Given the description of an element on the screen output the (x, y) to click on. 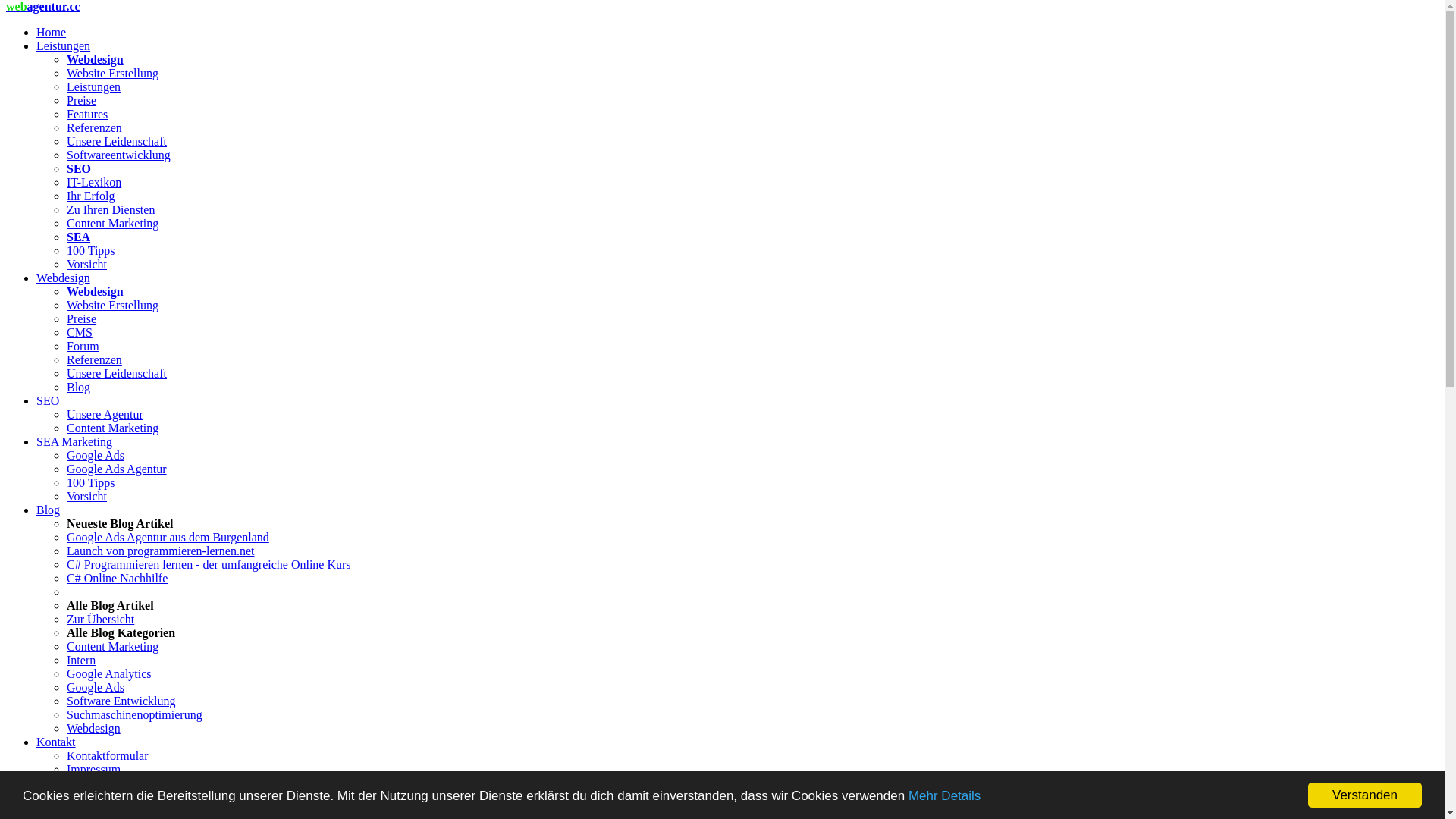
Content Marketing Element type: text (112, 222)
Blog Element type: text (47, 509)
C# Online Nachhilfe Element type: text (116, 577)
Preise Element type: text (81, 318)
Unsere Agentur Element type: text (104, 782)
SEA Marketing Element type: text (74, 441)
IT-Lexikon Element type: text (93, 181)
Unsere Agentur Element type: text (104, 413)
Unsere Leidenschaft Element type: text (116, 373)
Verstanden Element type: text (1364, 794)
100 Tipps Element type: text (90, 482)
Software Entwicklung Element type: text (120, 700)
Webdesign Element type: text (94, 291)
Leistungen Element type: text (63, 45)
Preise Element type: text (81, 100)
Content Marketing Element type: text (112, 646)
Mehr Details Element type: text (944, 795)
Leistungen Element type: text (93, 86)
Ihr Erfolg Element type: text (90, 195)
Launch von programmieren-lernen.net Element type: text (160, 550)
Kontaktformular Element type: text (107, 755)
Zu Ihren Diensten Element type: text (110, 209)
Softwareentwicklung Element type: text (118, 154)
Vorsicht Element type: text (86, 263)
Google Analytics Element type: text (108, 673)
Vorsicht Element type: text (86, 495)
Referenzen Element type: text (94, 127)
Features Element type: text (86, 113)
Unsere Leidenschaft Element type: text (116, 140)
SEO Element type: text (78, 168)
Forum Element type: text (82, 345)
Login Element type: text (50, 796)
Blog Element type: text (78, 386)
Suchmaschinenoptimierung Element type: text (134, 714)
SEA Element type: text (78, 236)
Referenzen Element type: text (94, 359)
Webdesign Element type: text (63, 277)
Content Marketing Element type: text (112, 427)
CMS Element type: text (79, 332)
Google Ads Agentur Element type: text (116, 468)
SEO Element type: text (47, 400)
C# Programmieren lernen - der umfangreiche Online Kurs Element type: text (208, 564)
Webdesign Element type: text (94, 59)
Google Ads Agentur aus dem Burgenland Element type: text (167, 536)
Google Ads Element type: text (95, 454)
Kontakt Element type: text (55, 741)
Website Erstellung Element type: text (112, 304)
webagentur.cc Element type: text (43, 6)
Website Erstellung Element type: text (112, 72)
Impressum Element type: text (93, 768)
Intern Element type: text (80, 659)
Webdesign Element type: text (93, 727)
100 Tipps Element type: text (90, 250)
Google Ads Element type: text (95, 686)
Home Element type: text (50, 31)
